Given the description of an element on the screen output the (x, y) to click on. 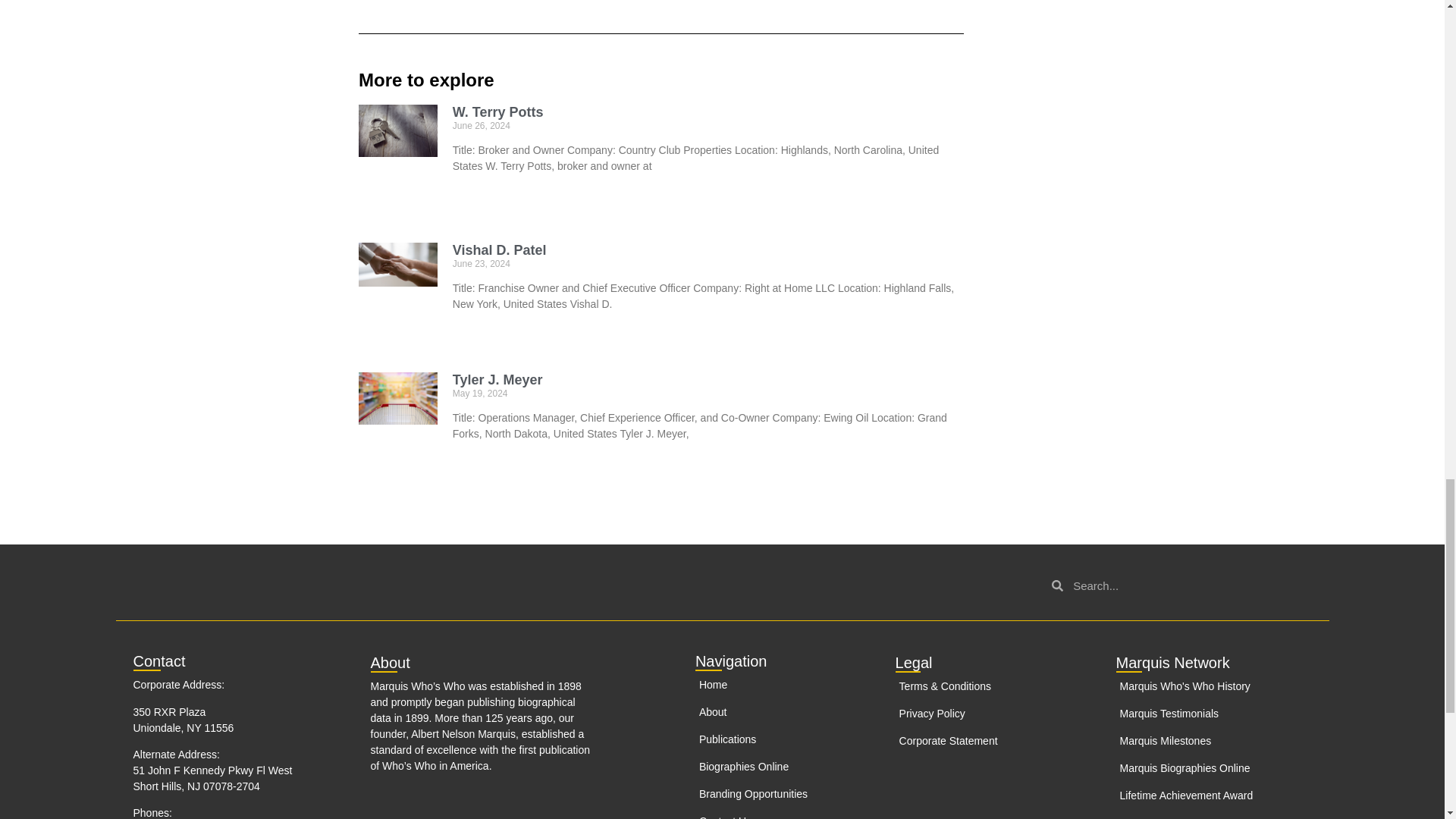
Contact Us (768, 816)
Marquis Who's Who History (1185, 686)
About (768, 712)
Home (768, 684)
Branding Opportunities (768, 794)
Publications (768, 739)
Tyler J. Meyer (497, 379)
Biographies Online (768, 766)
Corporate Statement (995, 741)
Vishal D. Patel (499, 249)
